Given the description of an element on the screen output the (x, y) to click on. 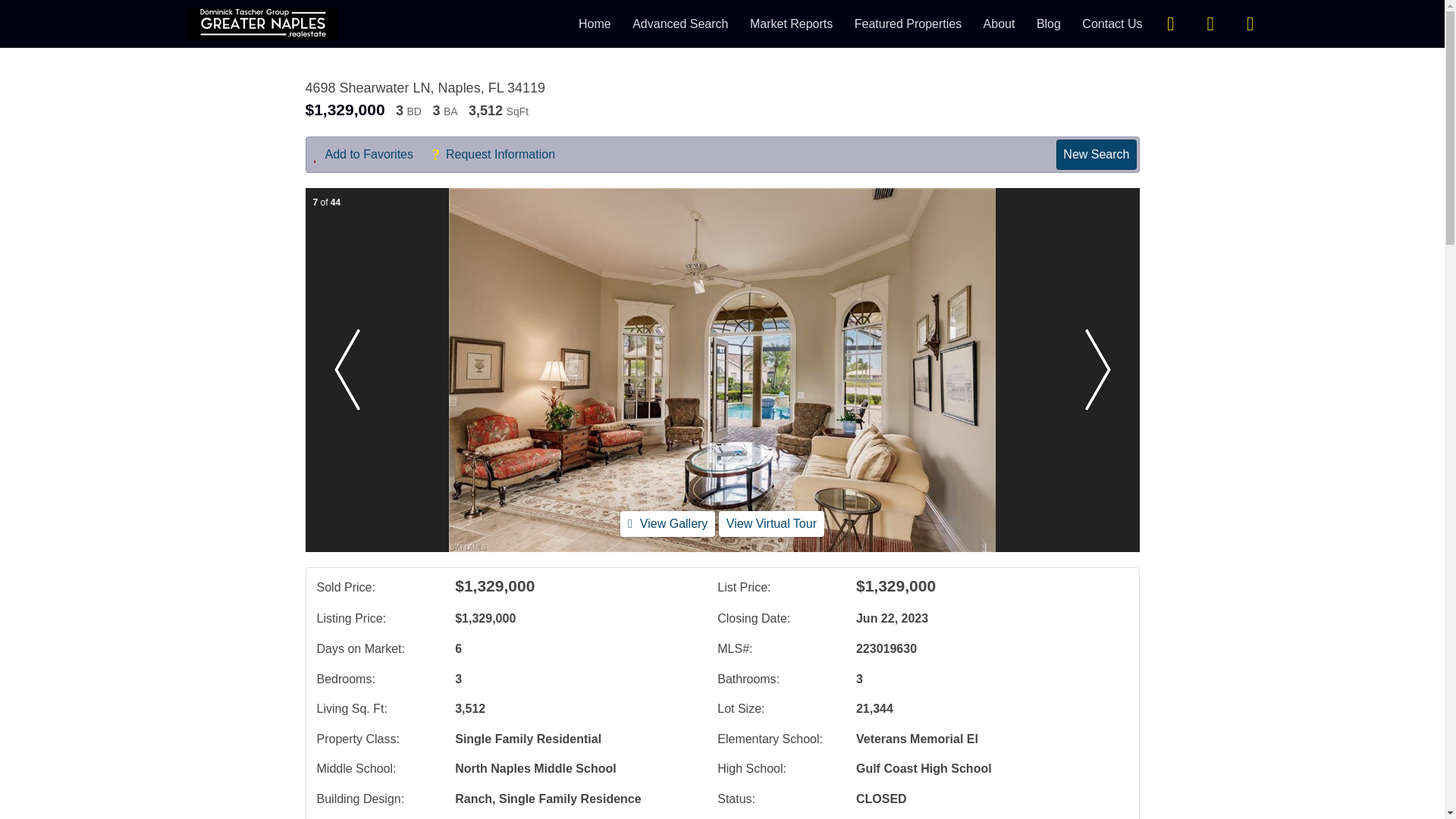
New Search (1096, 154)
Login or Signup (1249, 22)
Home (594, 23)
Market Reports (790, 23)
Contact by Phone (1209, 22)
View Virtual Tour (771, 522)
Add to Favorites (371, 154)
About (999, 23)
View Gallery (667, 524)
Open contact form (1170, 22)
Advanced Search (679, 23)
View Gallery (667, 522)
Featured Properties (907, 23)
Request Information (500, 154)
View Virtual Tour (771, 524)
